Given the description of an element on the screen output the (x, y) to click on. 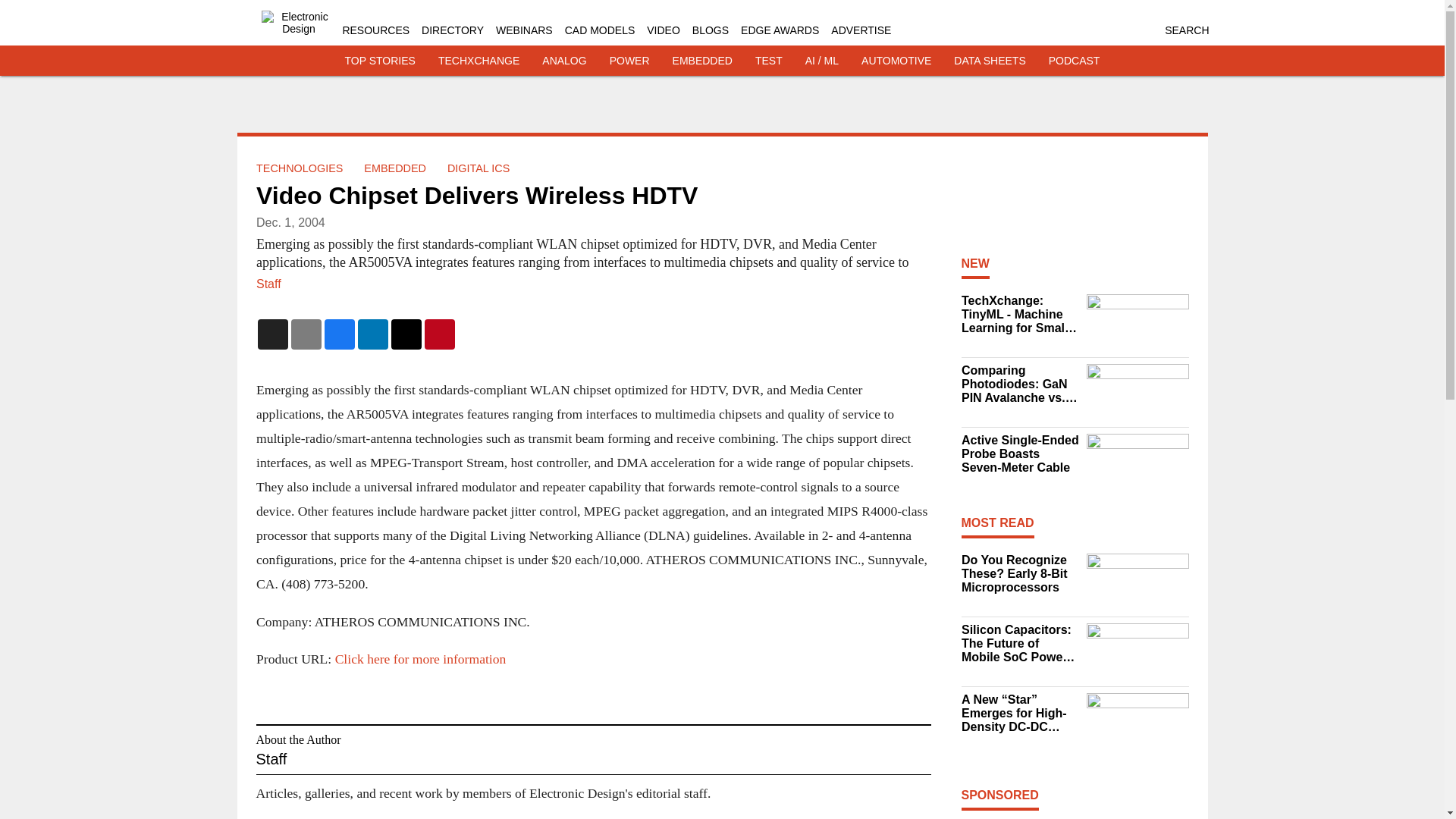
BLOGS (711, 30)
PODCAST (1074, 60)
EMBEDDED (395, 168)
Staff (268, 283)
TECHNOLOGIES (299, 168)
TOP STORIES (379, 60)
TECHXCHANGE (478, 60)
VIDEO (662, 30)
ADVERTISE (861, 30)
DIRECTORY (452, 30)
